Given the description of an element on the screen output the (x, y) to click on. 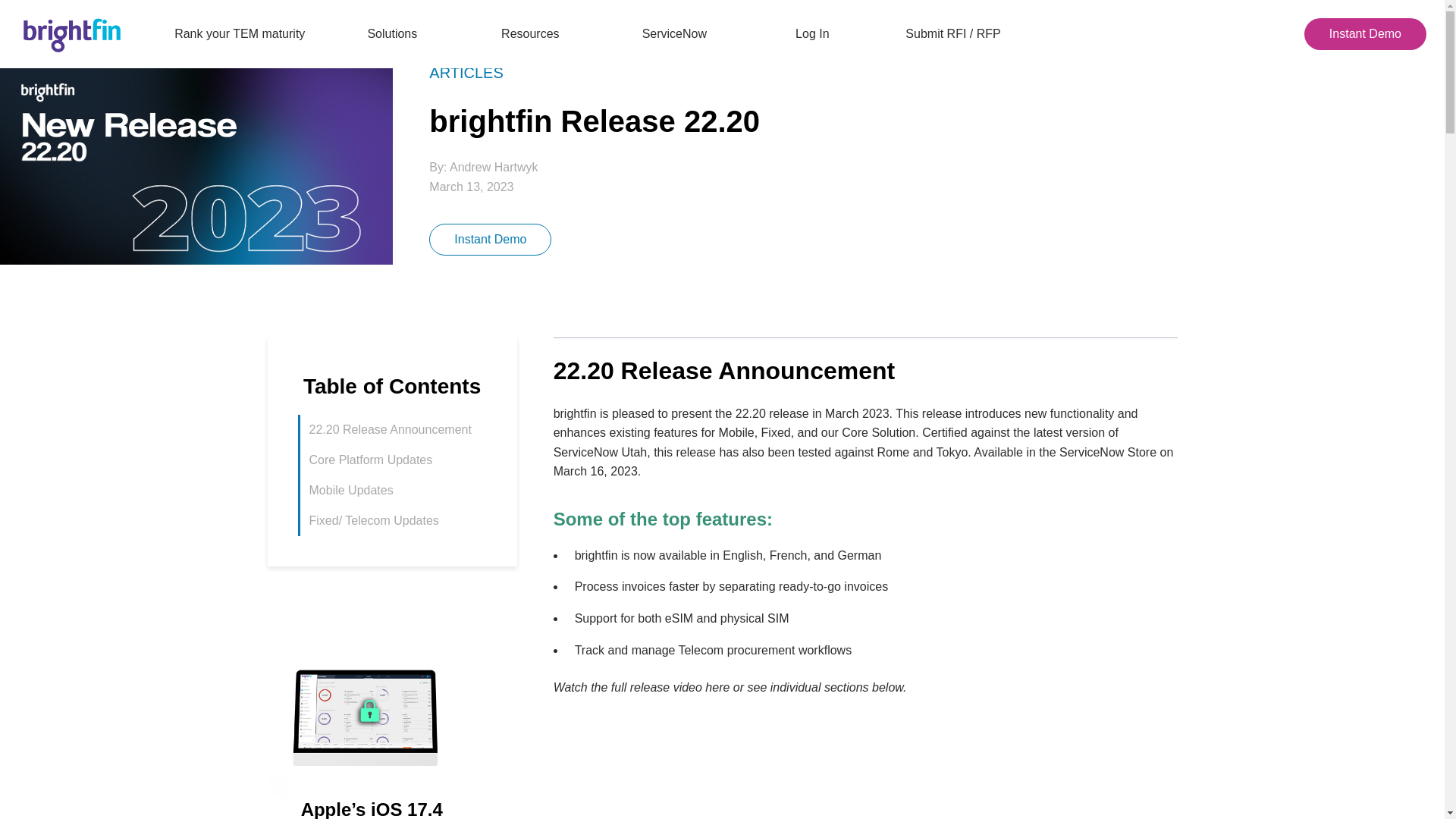
Solutions (398, 33)
Resources (535, 33)
Resources (535, 33)
Solutions (398, 33)
Log In (812, 33)
ServiceNow (674, 33)
Rank your TEM maturity (239, 33)
ServiceNow (674, 33)
Rank your TEM maturity (239, 33)
Log In (812, 33)
